Given the description of an element on the screen output the (x, y) to click on. 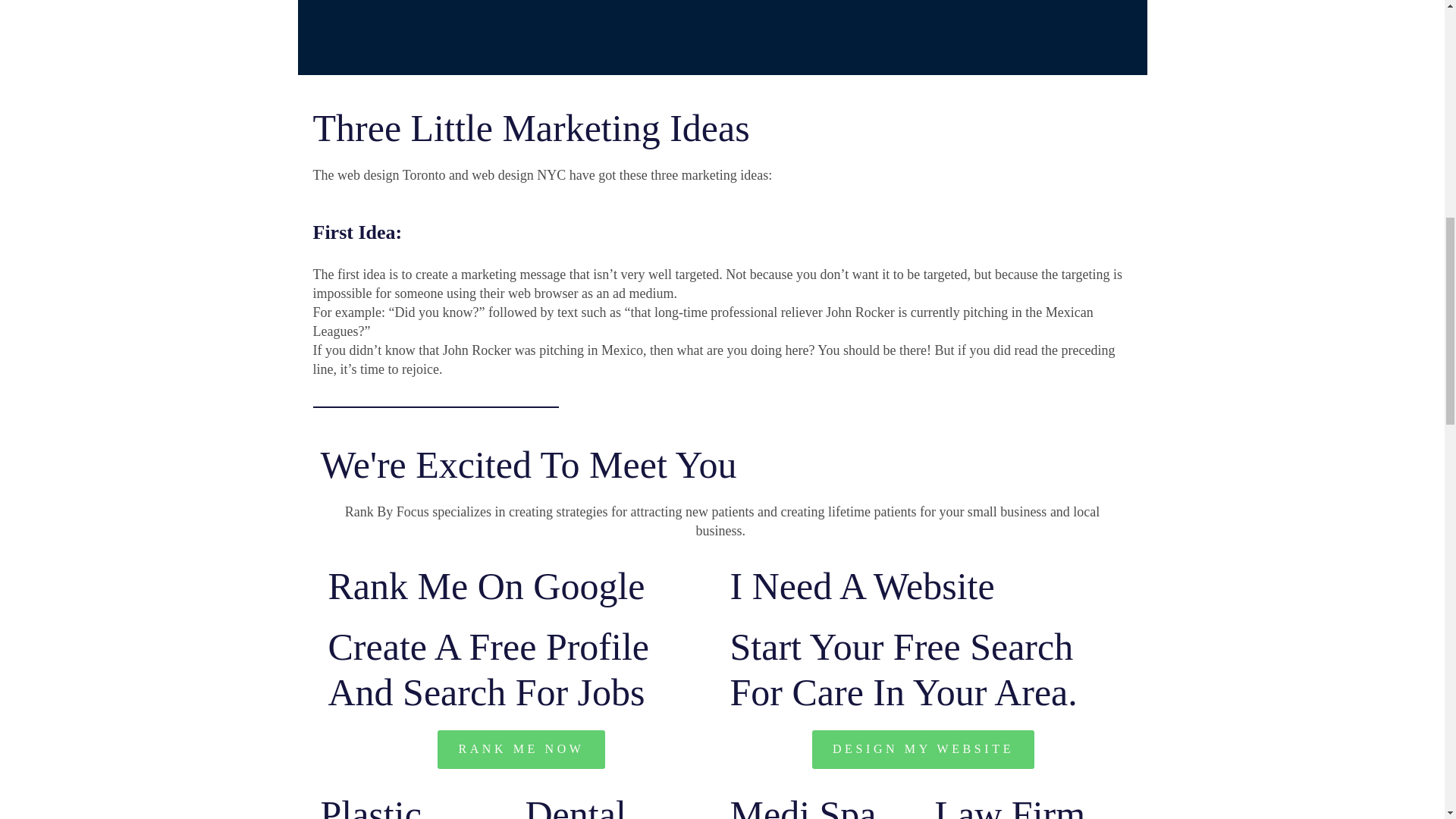
RANK ME NOW (521, 749)
DESIGN MY WEBSITE (922, 749)
